Given the description of an element on the screen output the (x, y) to click on. 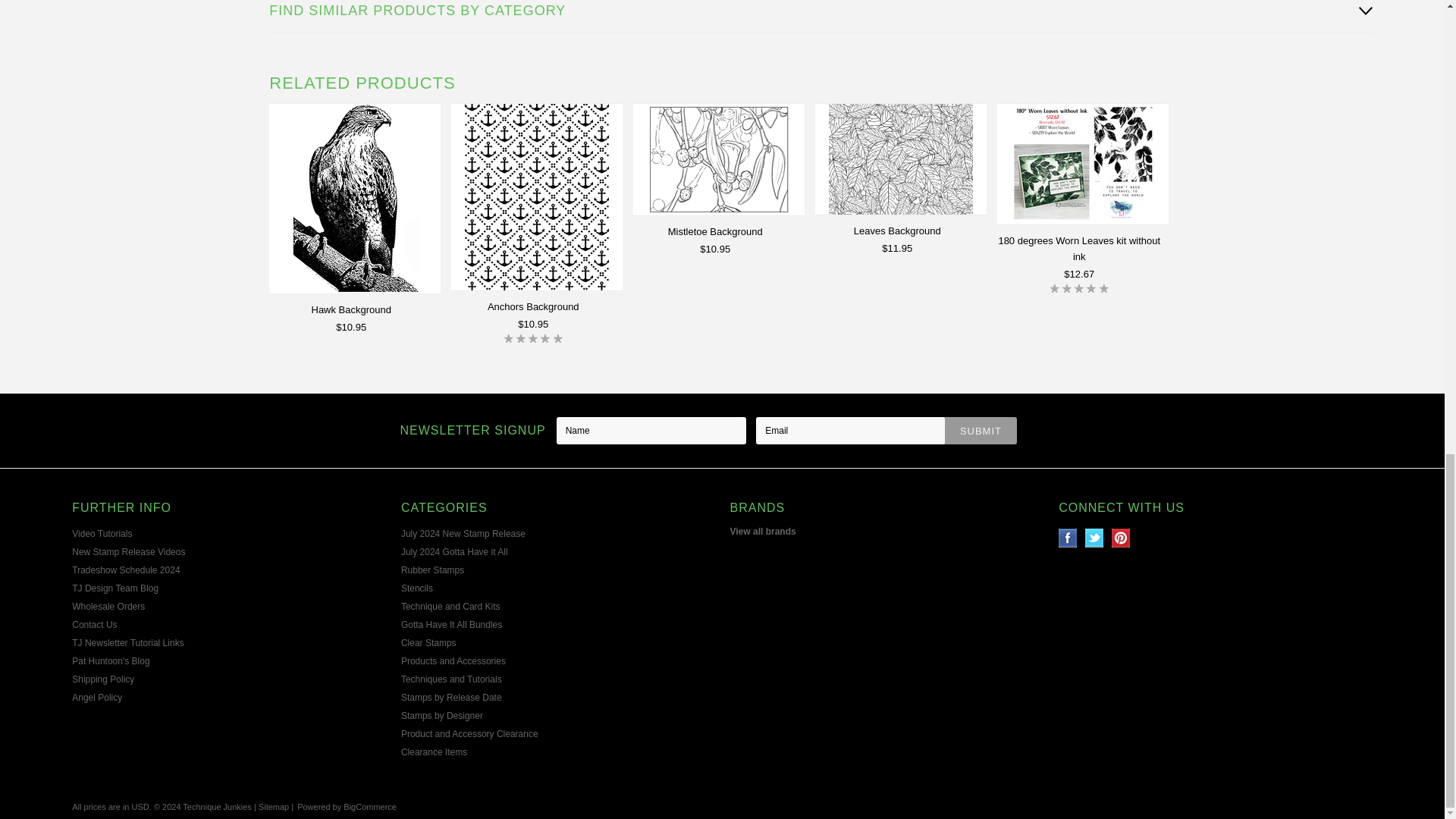
Submit (980, 430)
Name (650, 430)
Email (849, 430)
